Given the description of an element on the screen output the (x, y) to click on. 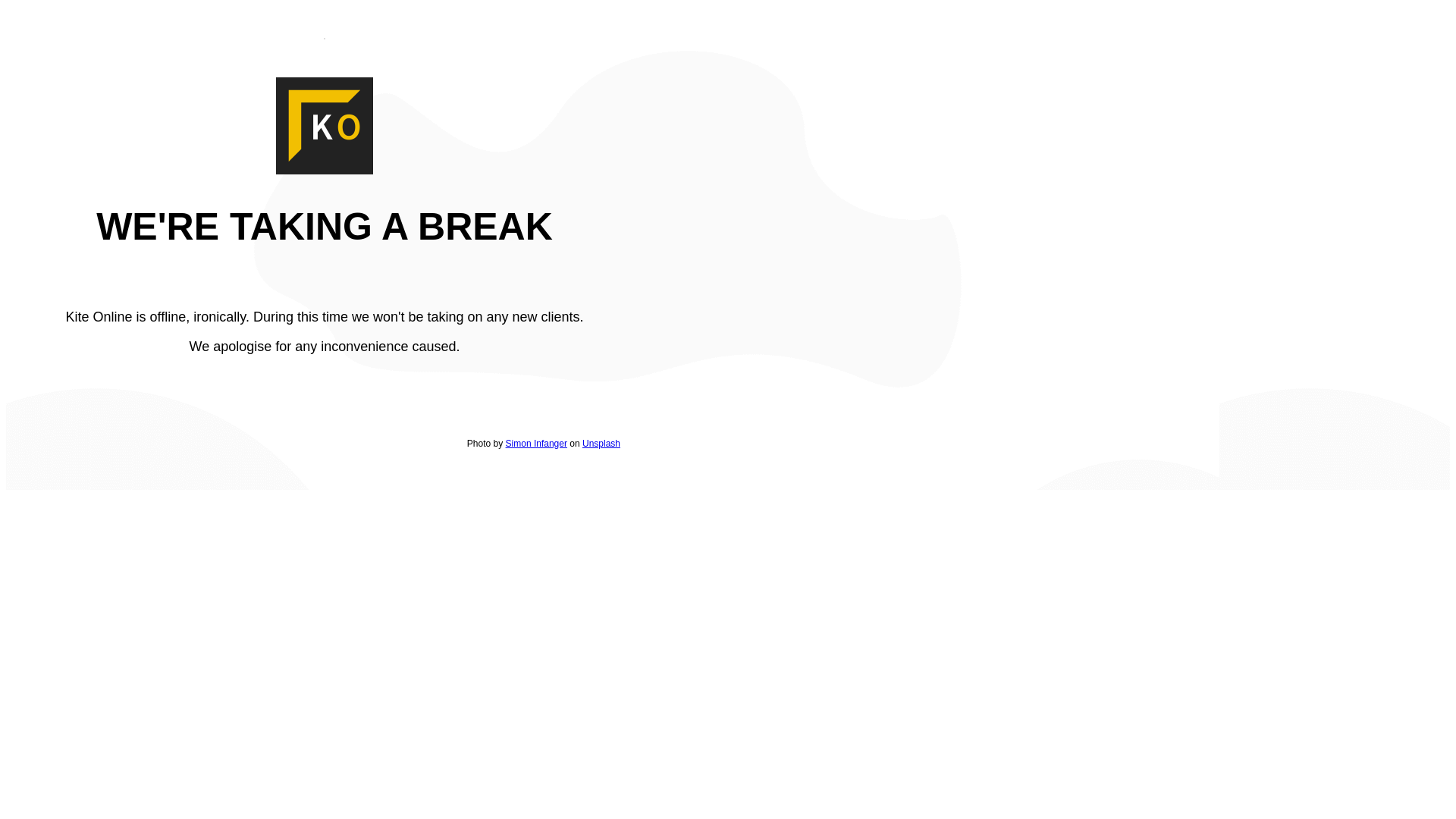
Unsplash Element type: text (601, 443)
Simon Infanger Element type: text (536, 443)
